Given the description of an element on the screen output the (x, y) to click on. 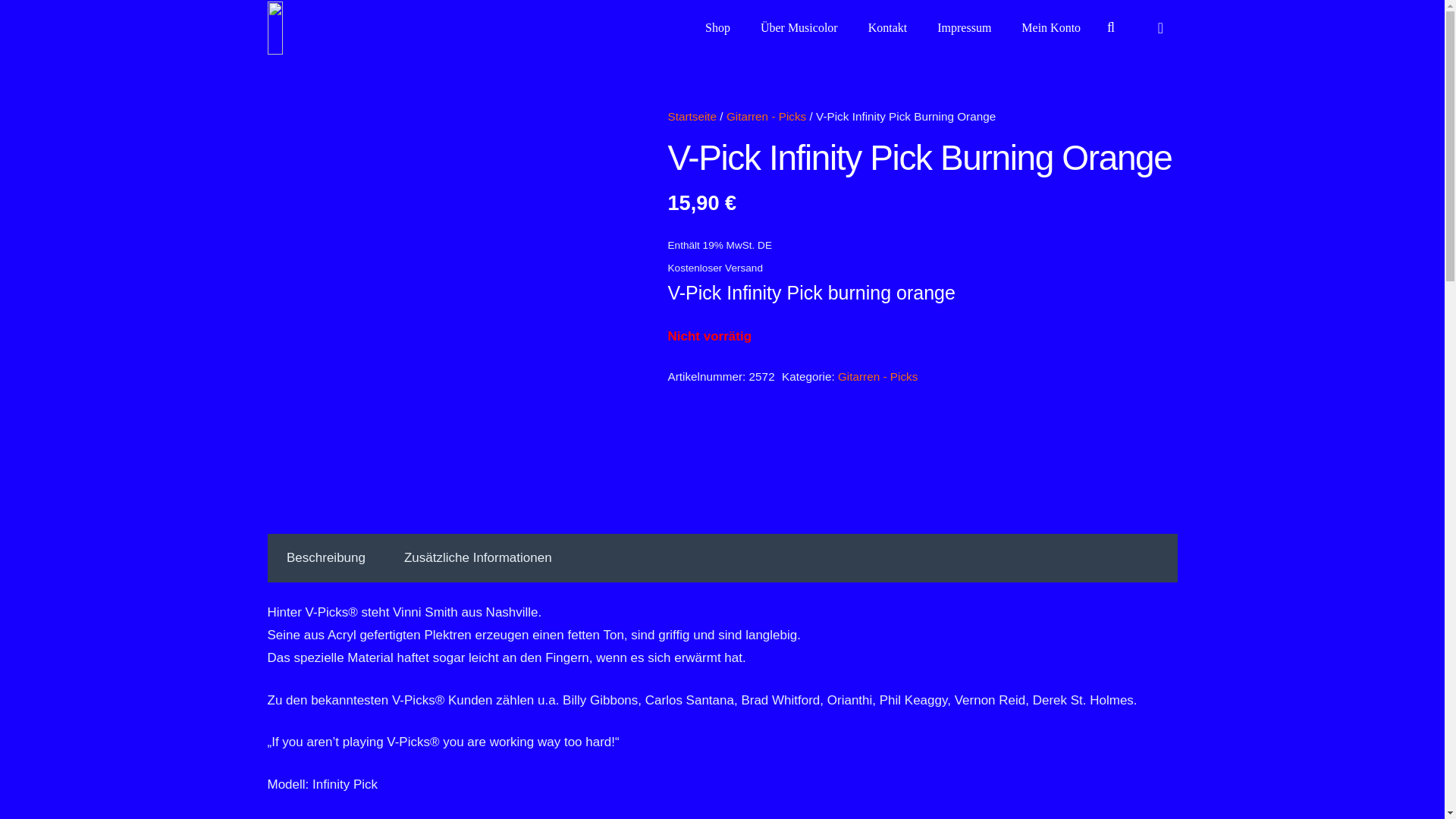
Impressum (963, 27)
Kontakt (888, 27)
Gitarren - Picks (877, 376)
Shop (717, 27)
Mein Konto (1051, 27)
Gitarren - Picks (766, 115)
Startseite (691, 115)
Beschreibung (325, 557)
